Given the description of an element on the screen output the (x, y) to click on. 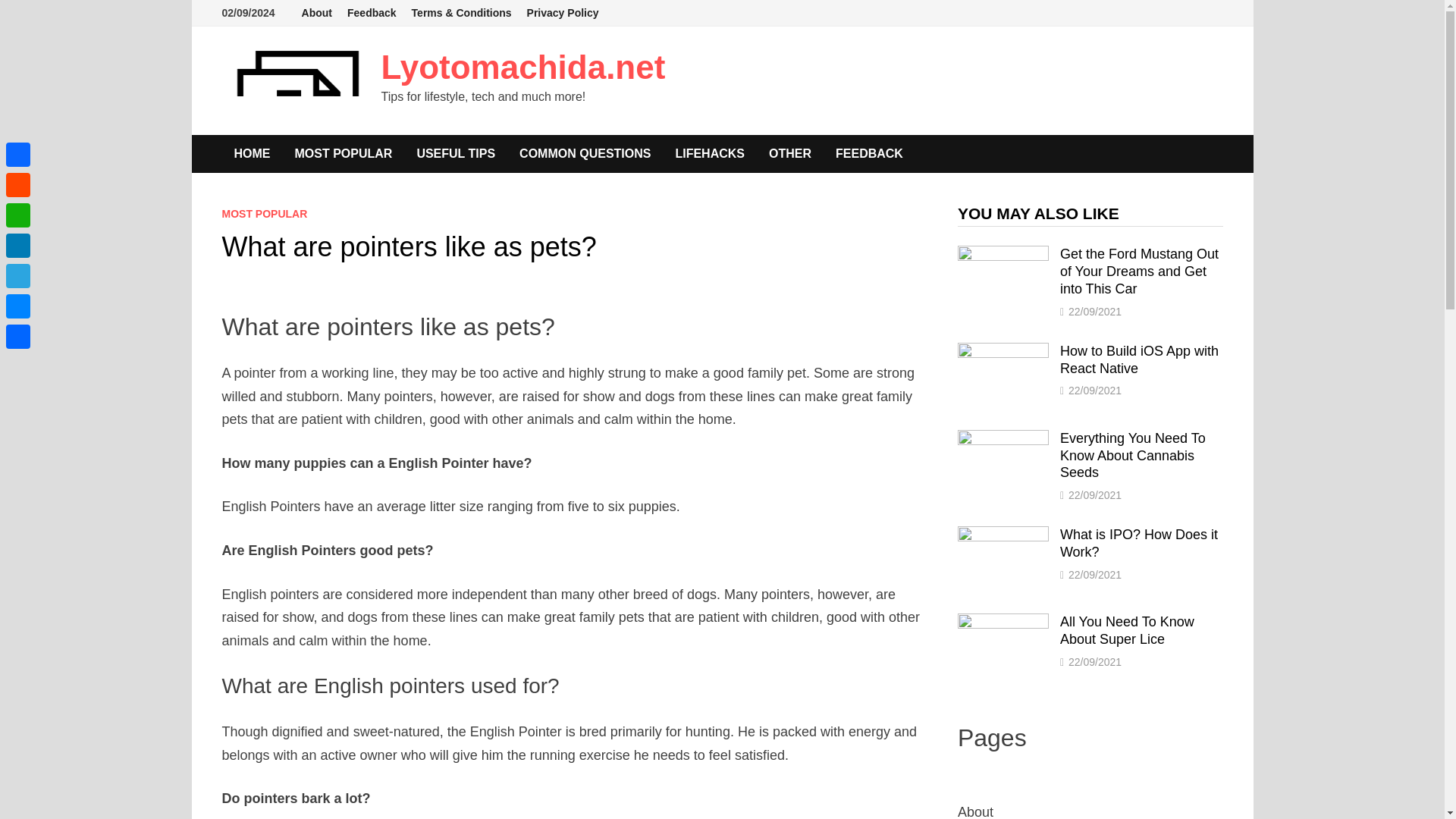
Privacy Policy (563, 13)
MOST POPULAR (343, 153)
All You Need To Know About Super Lice (1003, 622)
What is IPO? How Does it Work? (1003, 535)
COMMON QUESTIONS (584, 153)
OTHER (790, 153)
WhatsApp (17, 214)
HOME (251, 153)
About (316, 13)
